Given the description of an element on the screen output the (x, y) to click on. 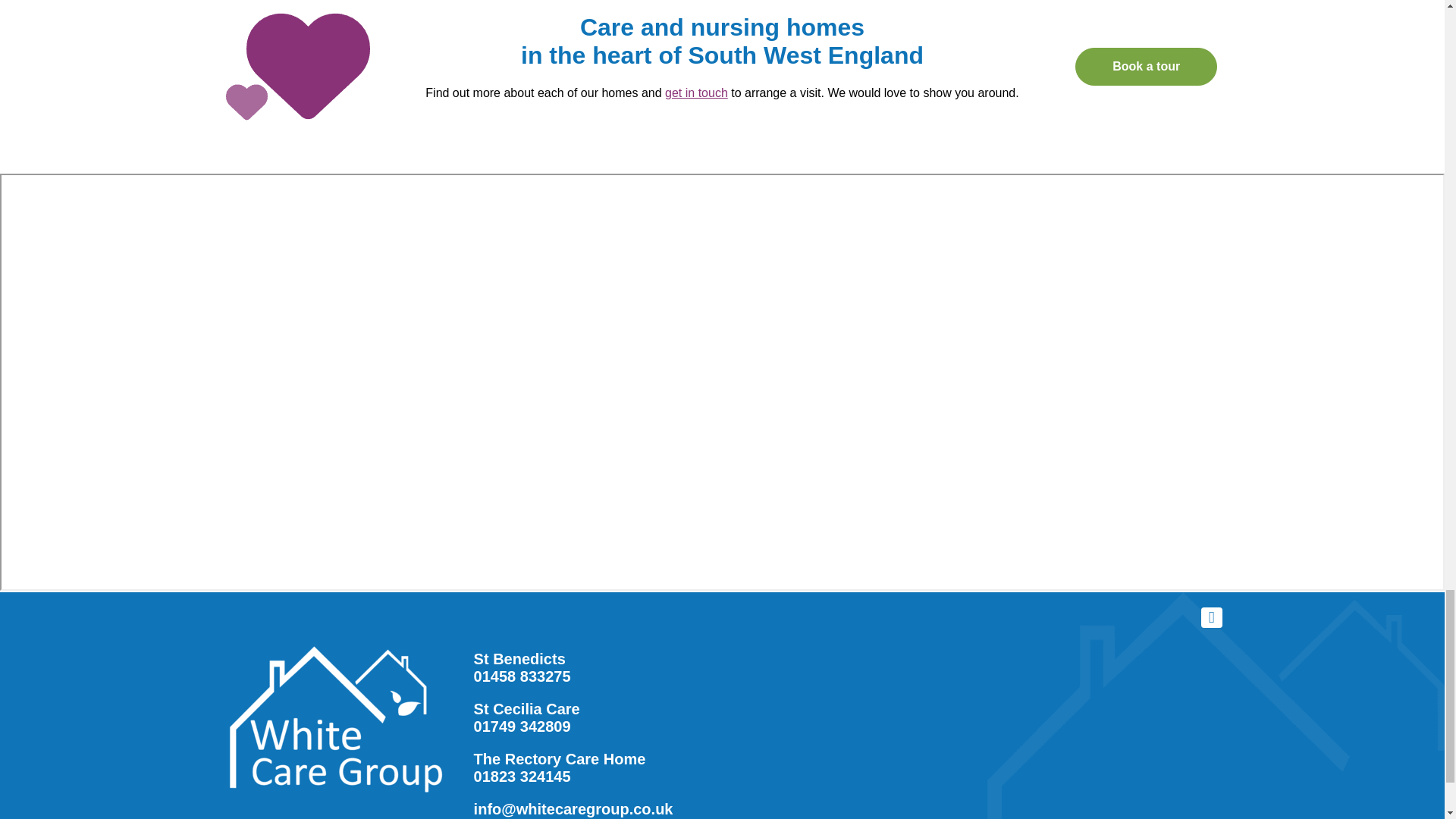
01823 324145 (522, 776)
get in touch (696, 92)
Book a tour (1146, 66)
01749 342809 (522, 726)
White Care Group on Facebook (1212, 617)
01458 833275 (522, 676)
